Given the description of an element on the screen output the (x, y) to click on. 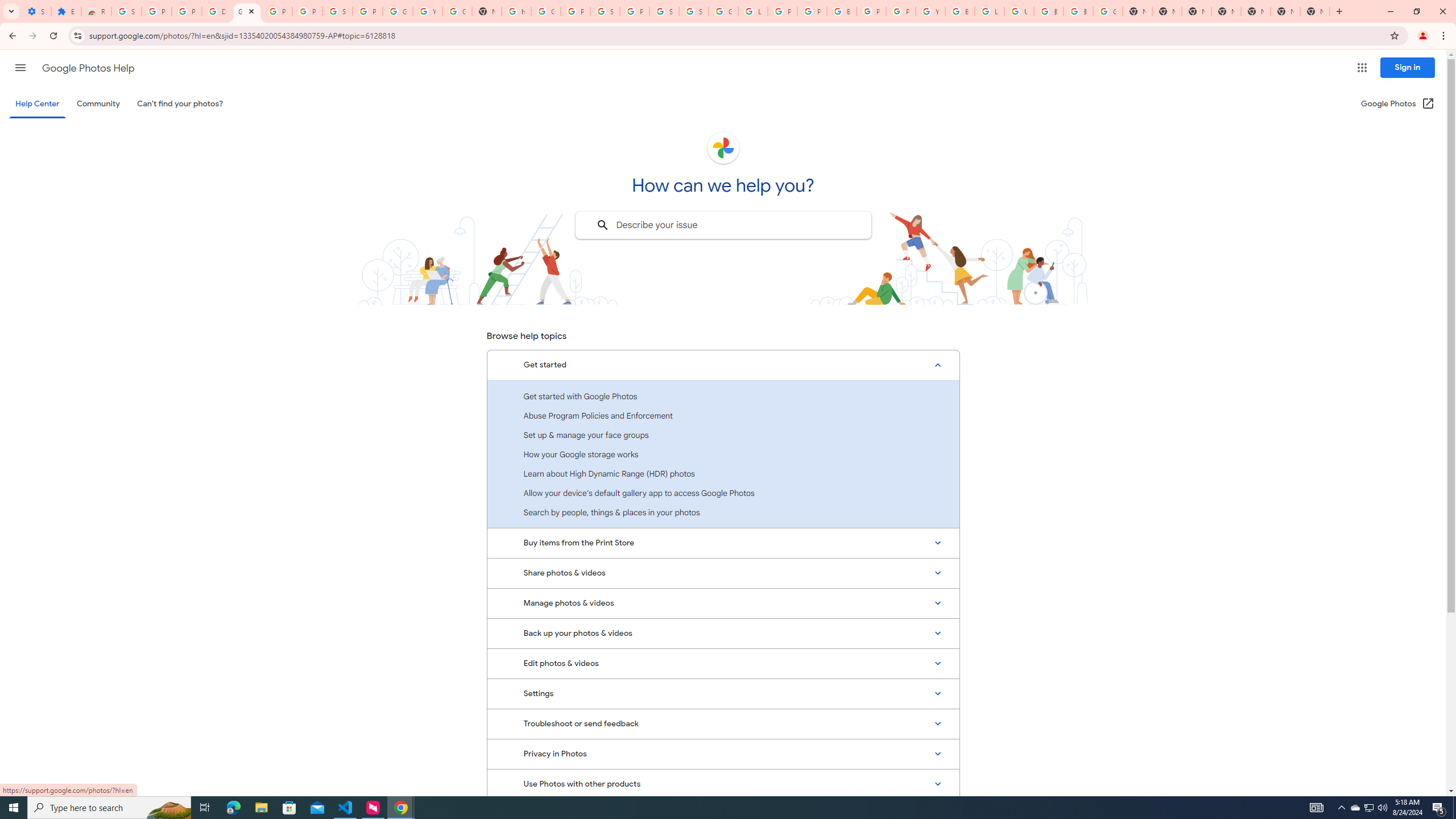
Reviews: Helix Fruit Jump Arcade Game (95, 11)
New Tab (1226, 11)
Set up & manage your face groups (722, 434)
Share photos & videos (722, 573)
Learn about High Dynamic Range (HDR) photos (722, 473)
Buy items from the Print Store (722, 542)
